Given the description of an element on the screen output the (x, y) to click on. 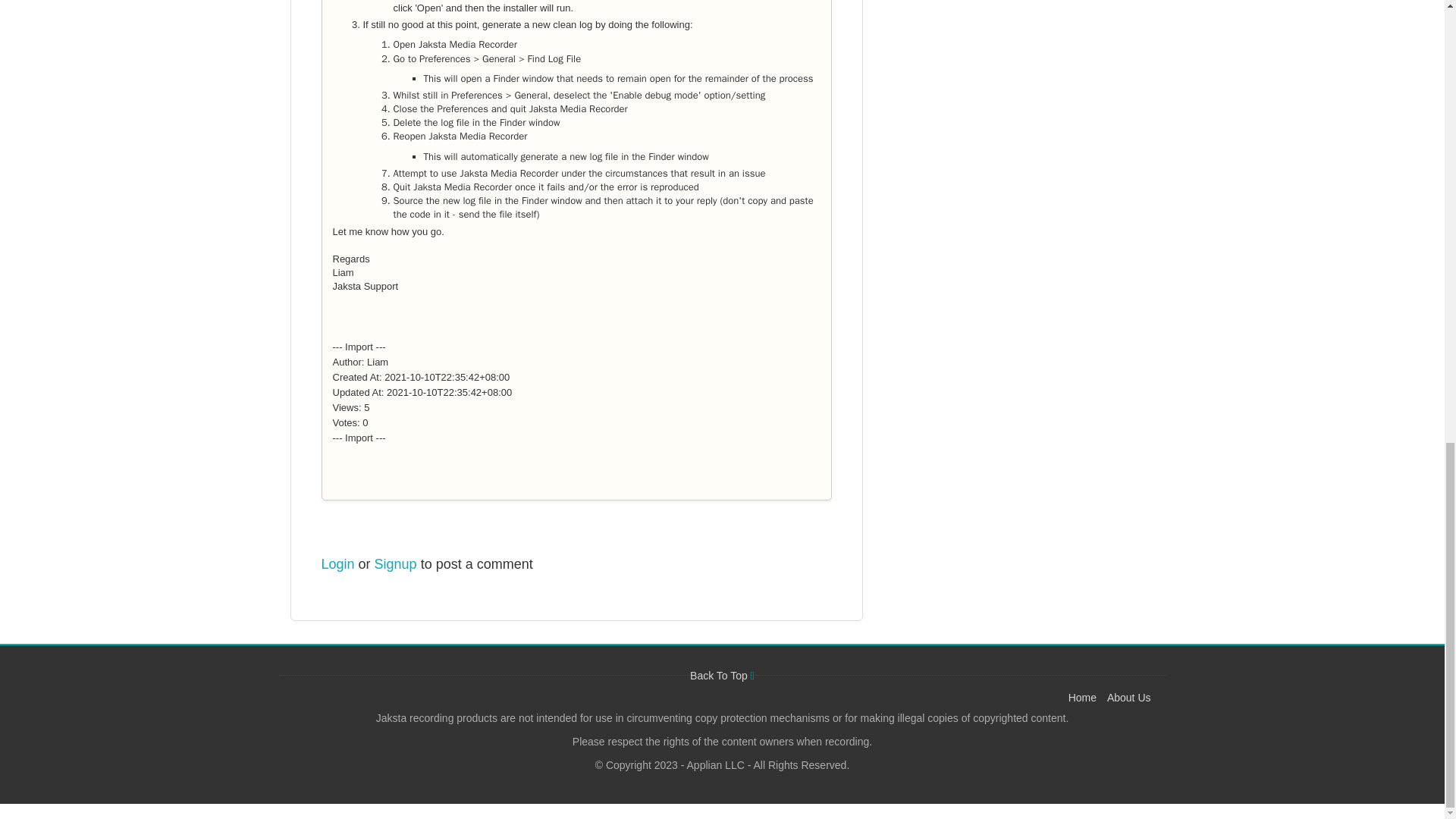
Signup (395, 563)
Login (338, 563)
Back to top (722, 675)
